Given the description of an element on the screen output the (x, y) to click on. 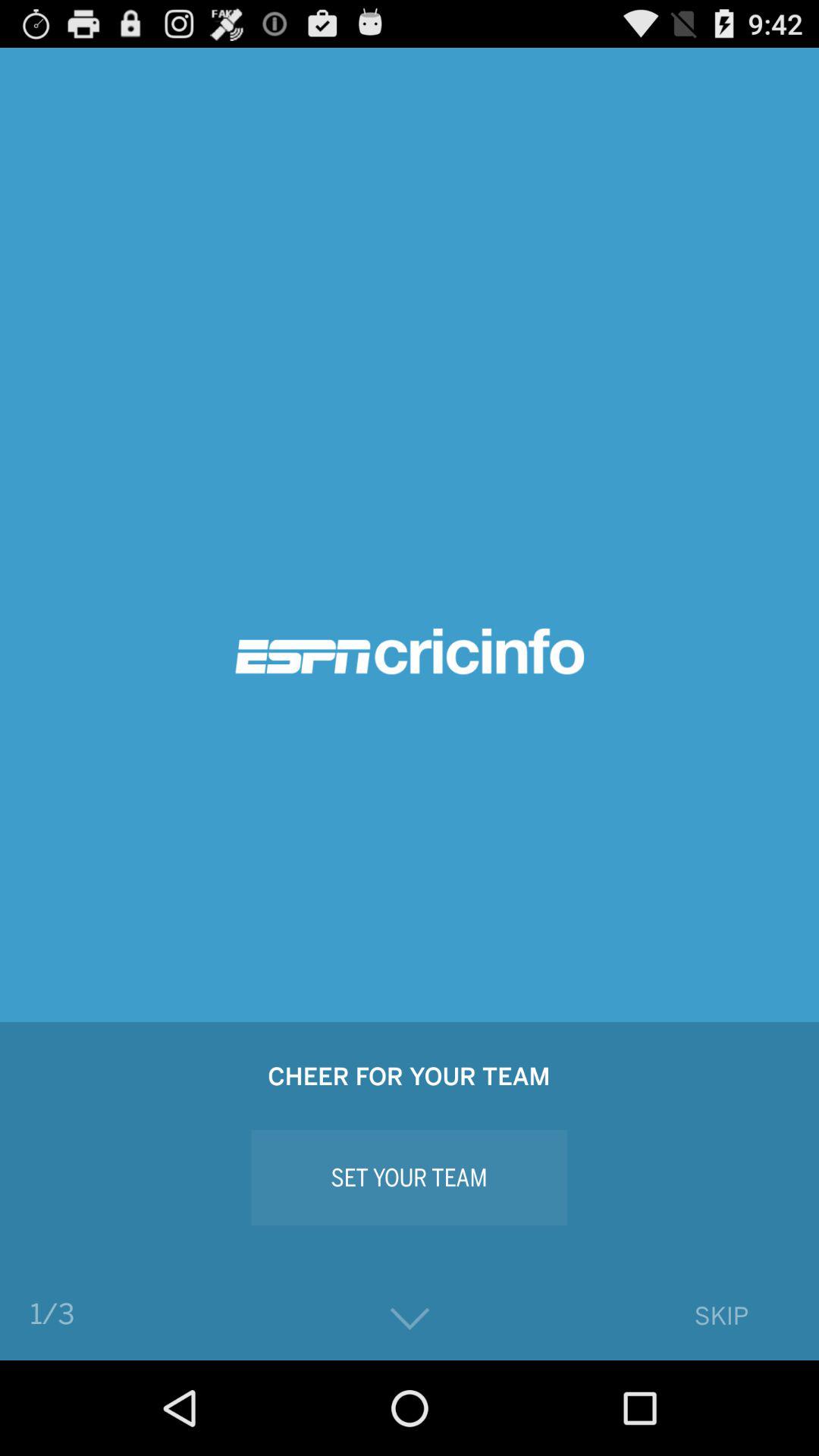
click the button at the bottom right corner (720, 1315)
